Given the description of an element on the screen output the (x, y) to click on. 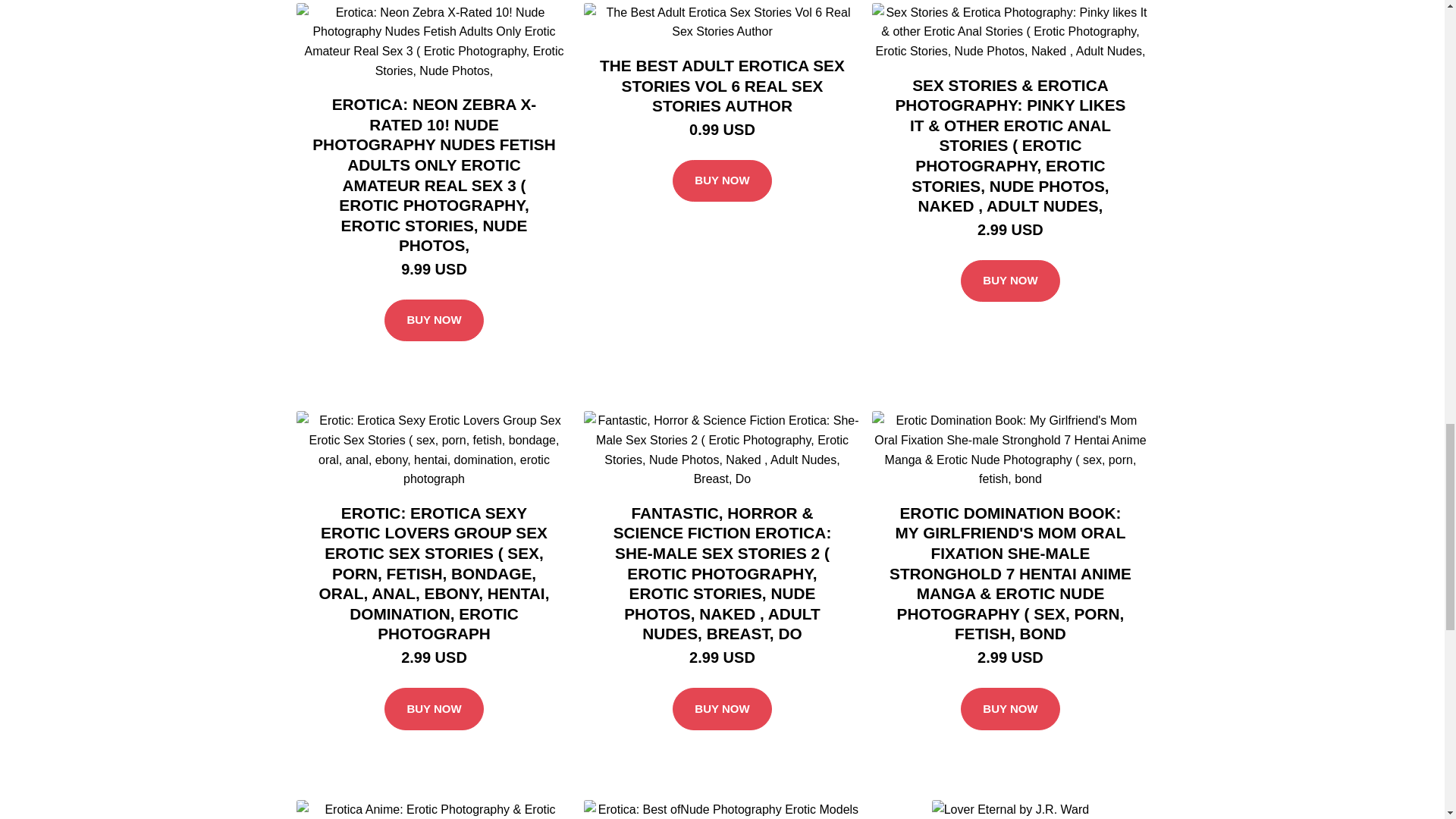
BUY NOW (721, 686)
BUY NOW (433, 686)
BUY NOW (1009, 686)
